Given the description of an element on the screen output the (x, y) to click on. 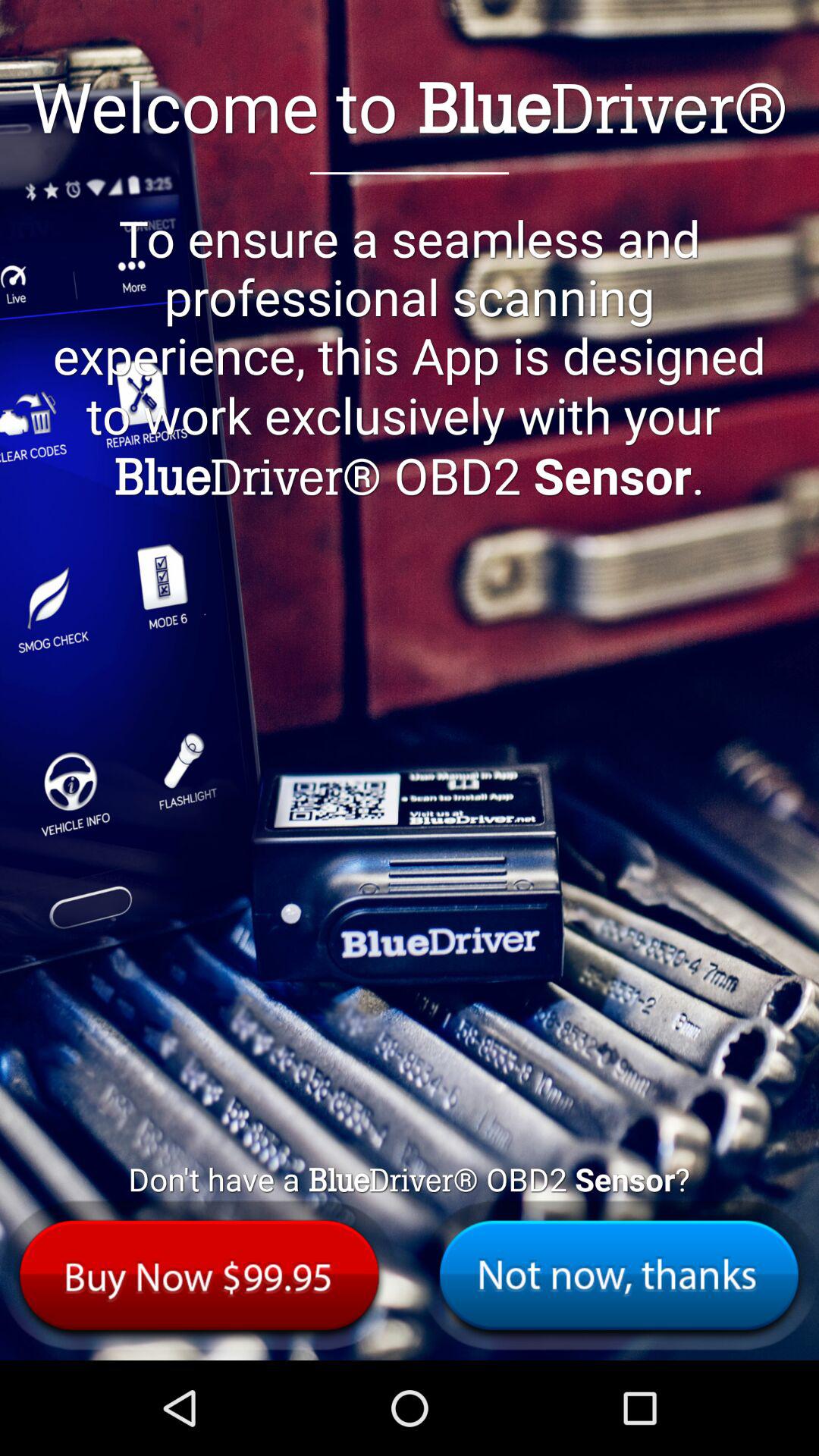
turn on the icon at the bottom right corner (619, 1275)
